Given the description of an element on the screen output the (x, y) to click on. 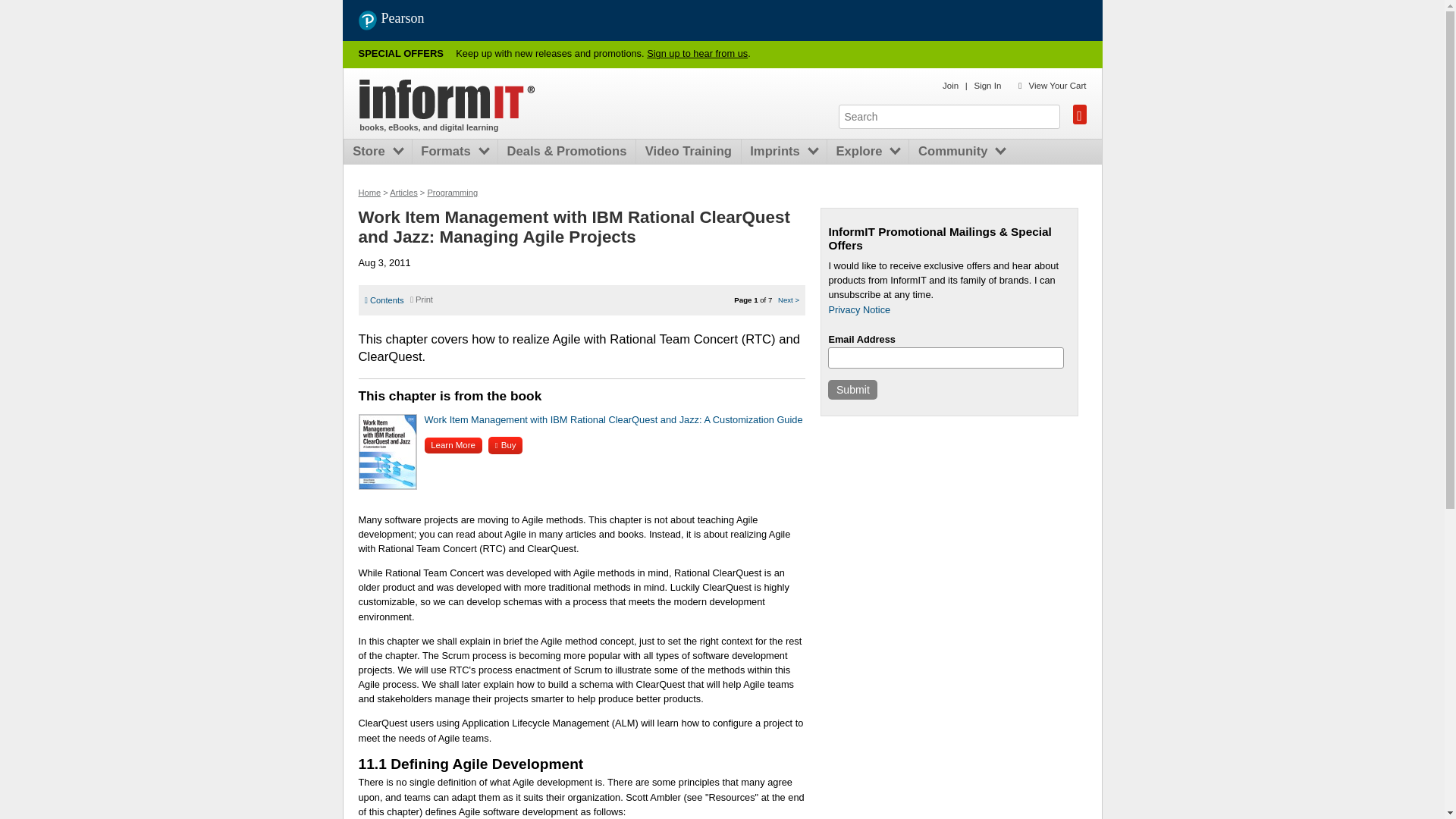
Home (369, 192)
Submit (852, 389)
Learn More (453, 445)
Submit (852, 389)
Programming (451, 192)
Join (950, 85)
Articles (403, 192)
Sign up to hear from us (697, 52)
Sign In (987, 85)
View Your Cart (1057, 85)
Home (446, 98)
Print (421, 298)
Privacy Notice (858, 309)
